Given the description of an element on the screen output the (x, y) to click on. 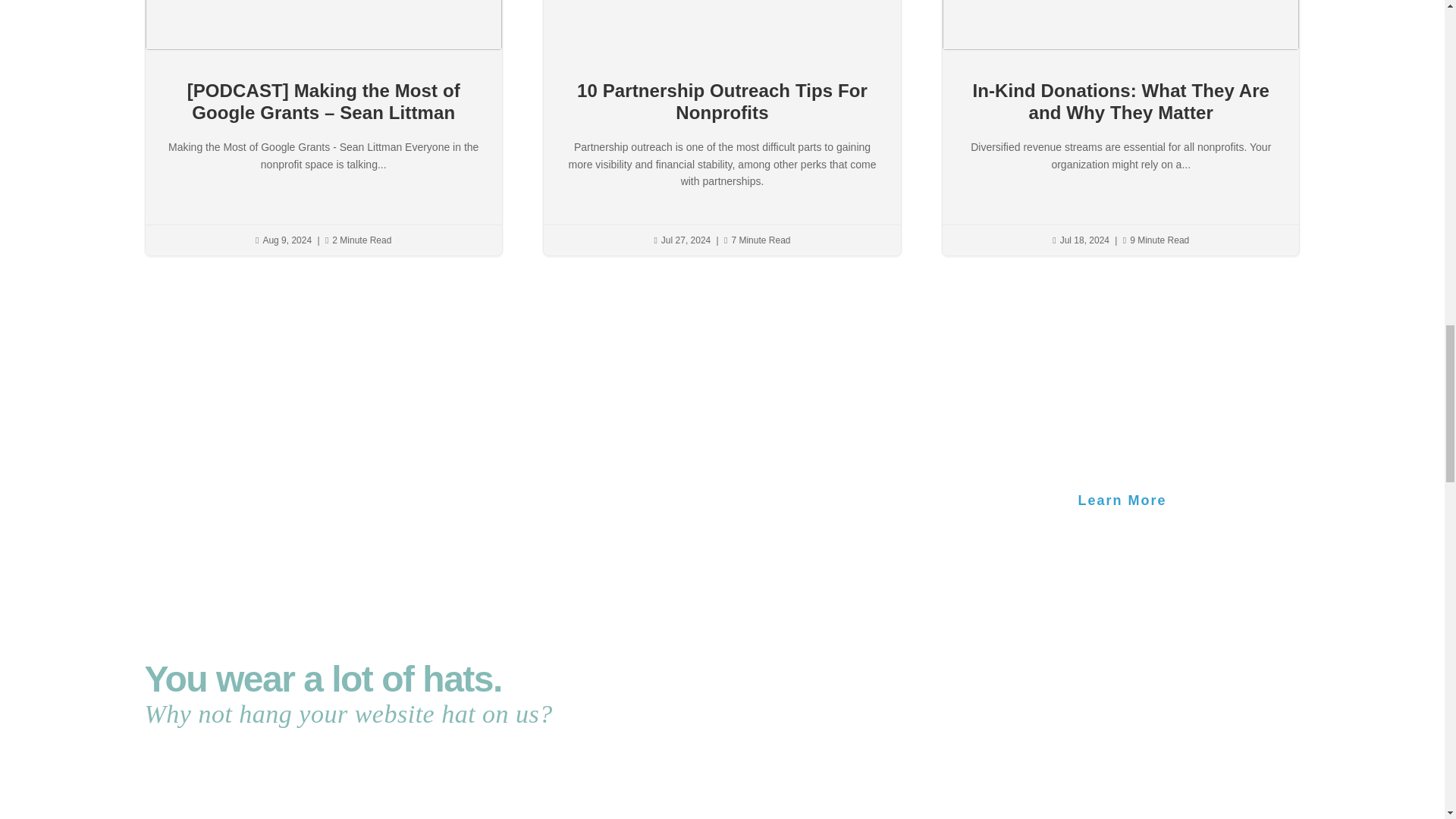
10 Partnership Outreach Tips For Nonprofits (721, 101)
Learn More (1122, 499)
In-Kind Donations: What They Are and Why They Matter (1120, 101)
